Given the description of an element on the screen output the (x, y) to click on. 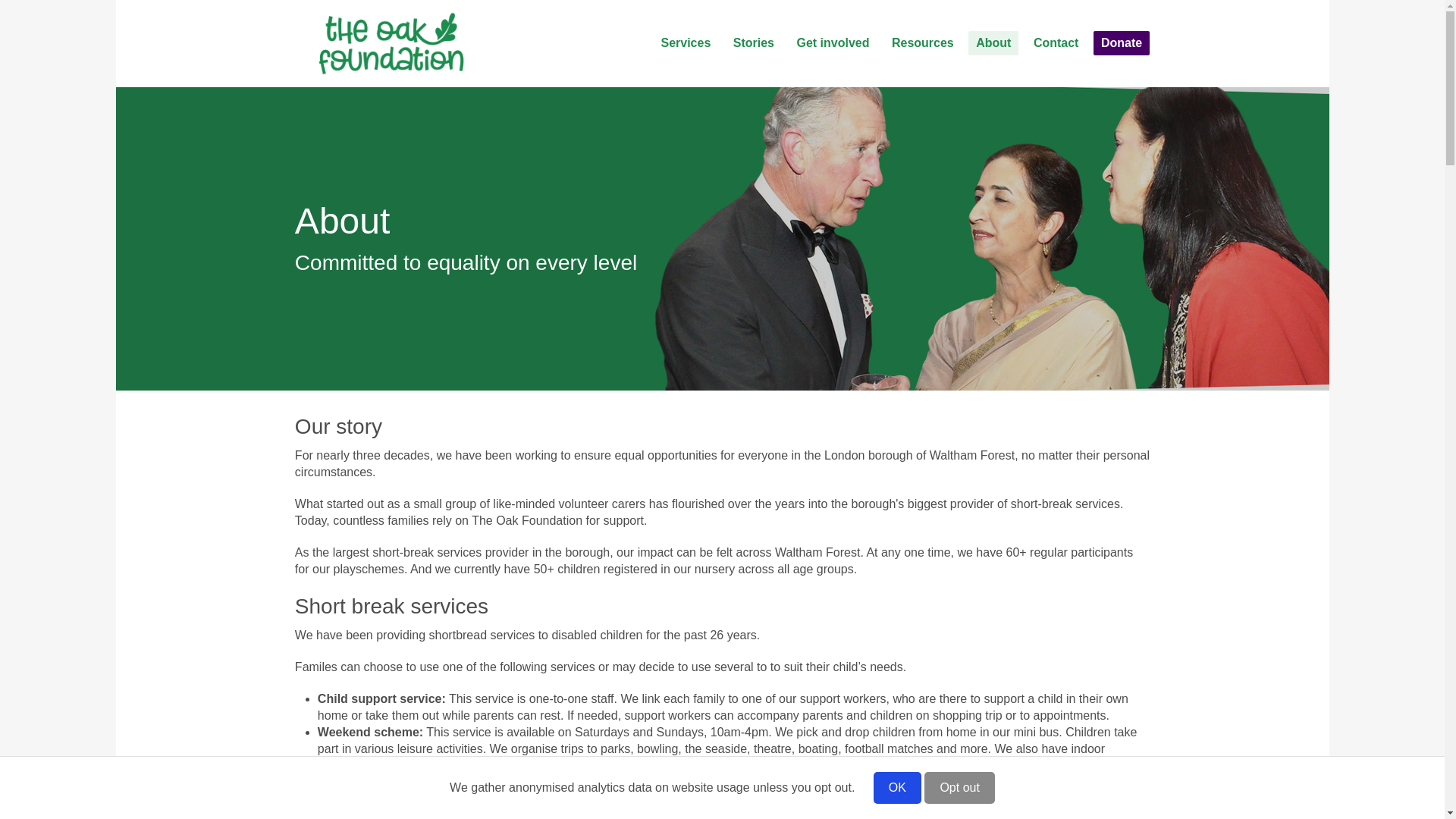
About (992, 43)
Services (684, 43)
Stories (753, 43)
OK (897, 787)
Donate (1121, 43)
Contact (1056, 43)
Get involved (832, 43)
Resources (921, 43)
Opt out (959, 787)
